Given the description of an element on the screen output the (x, y) to click on. 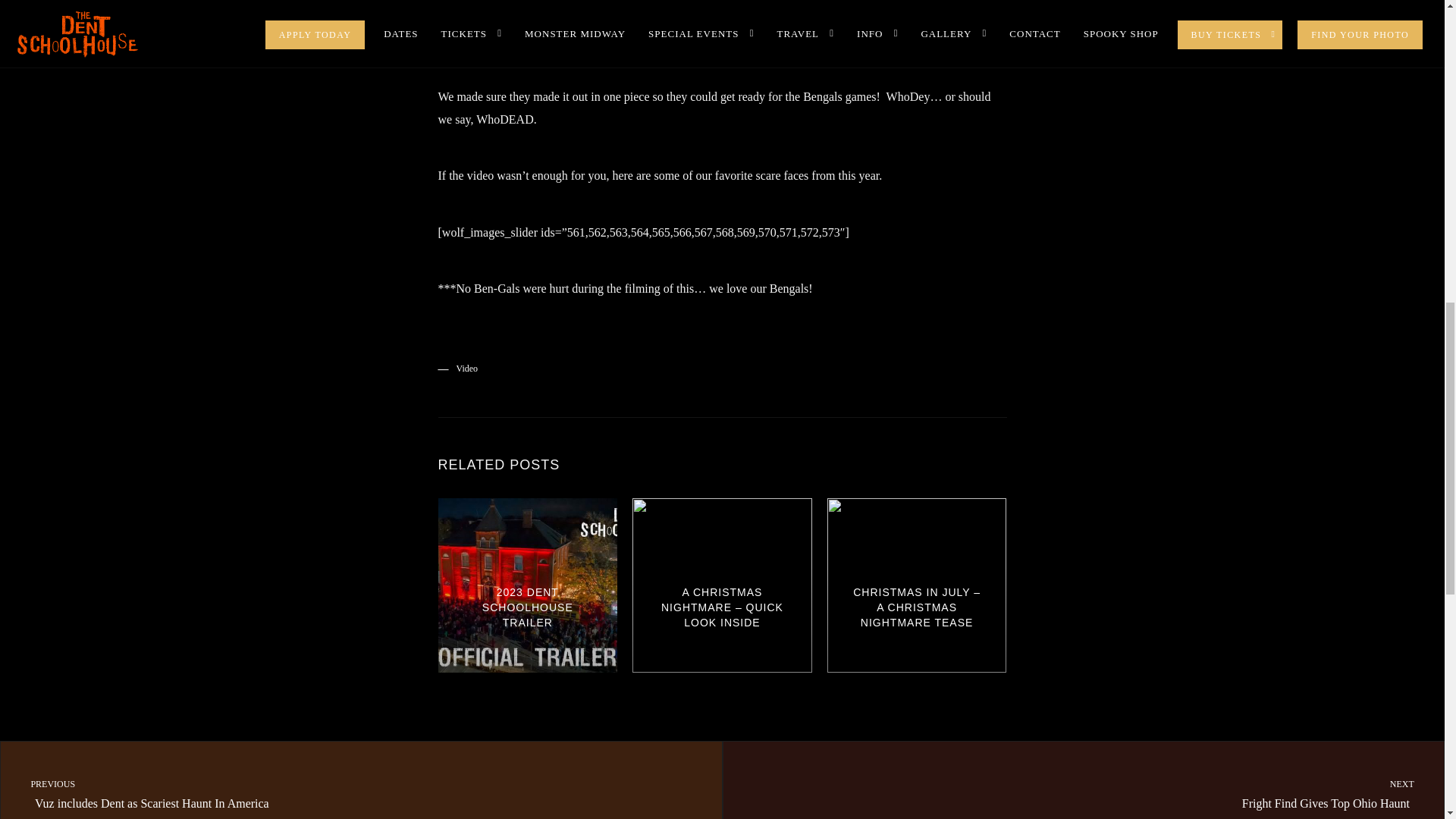
Back to the top (1412, 117)
